Given the description of an element on the screen output the (x, y) to click on. 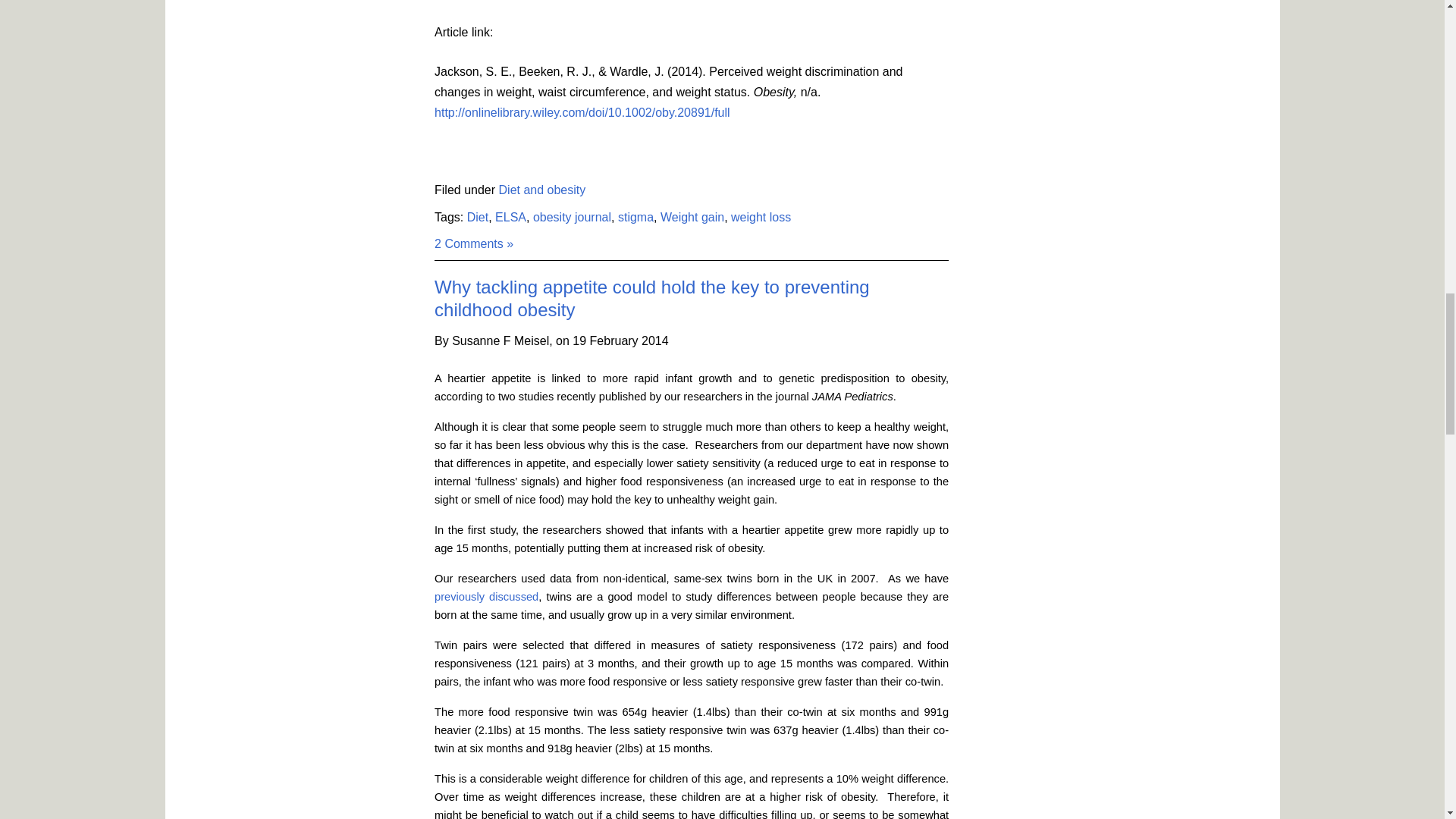
weight loss (760, 216)
Diet and obesity (542, 189)
previously discussed (485, 596)
stigma (635, 216)
obesity journal (571, 216)
Weight gain (692, 216)
Diet (477, 216)
ELSA (510, 216)
